Given the description of an element on the screen output the (x, y) to click on. 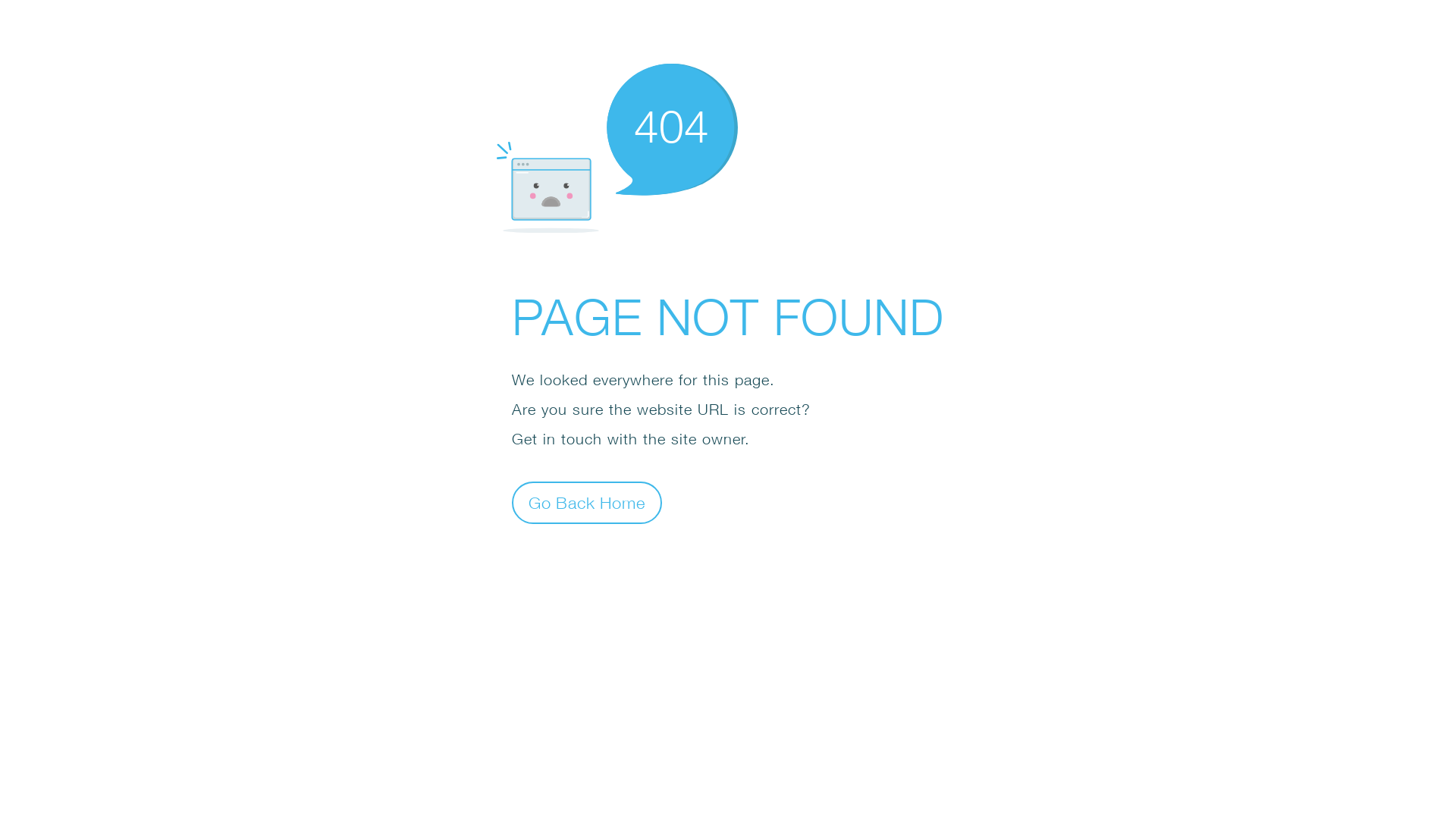
Go Back Home Element type: text (586, 502)
